Given the description of an element on the screen output the (x, y) to click on. 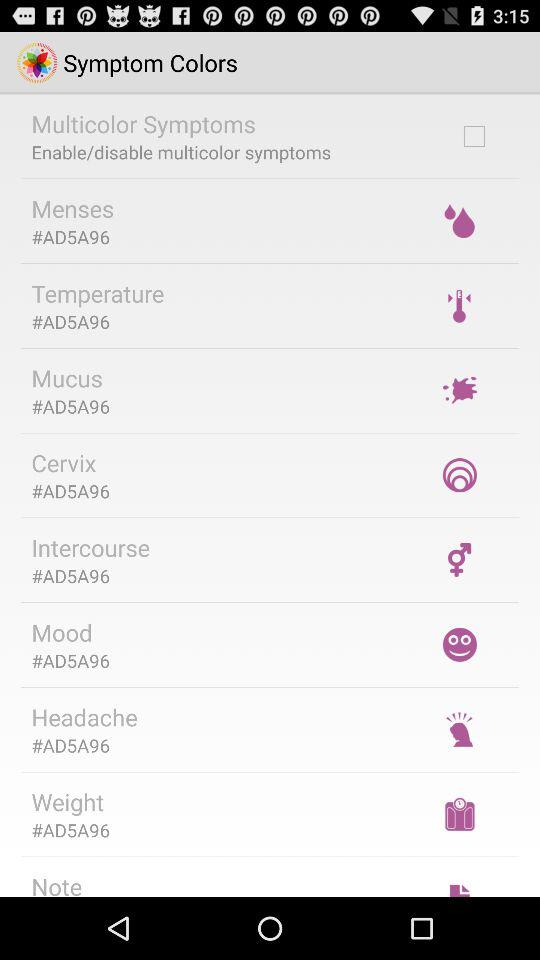
flip to temperature item (97, 293)
